Given the description of an element on the screen output the (x, y) to click on. 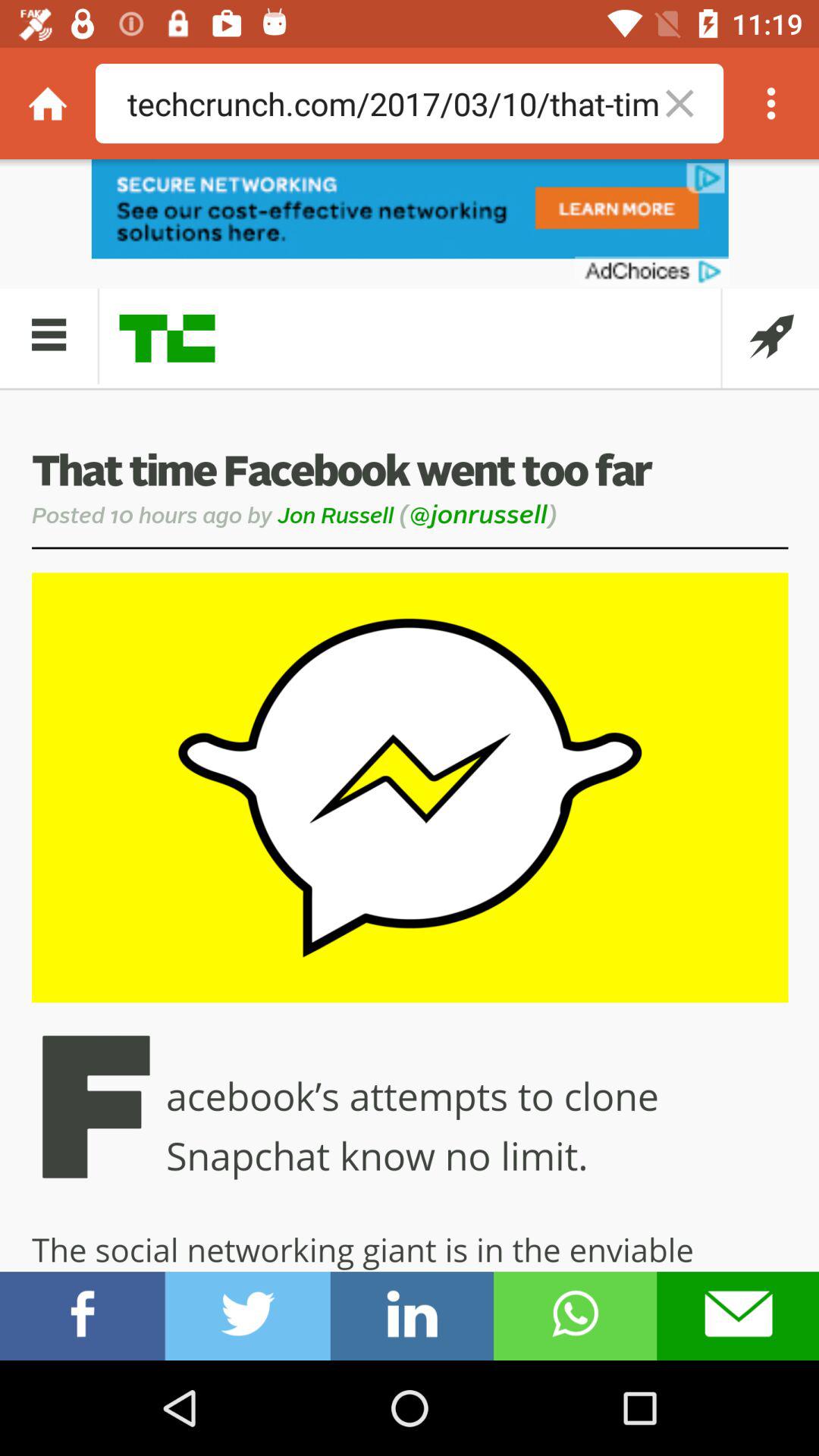
more info (771, 103)
